Given the description of an element on the screen output the (x, y) to click on. 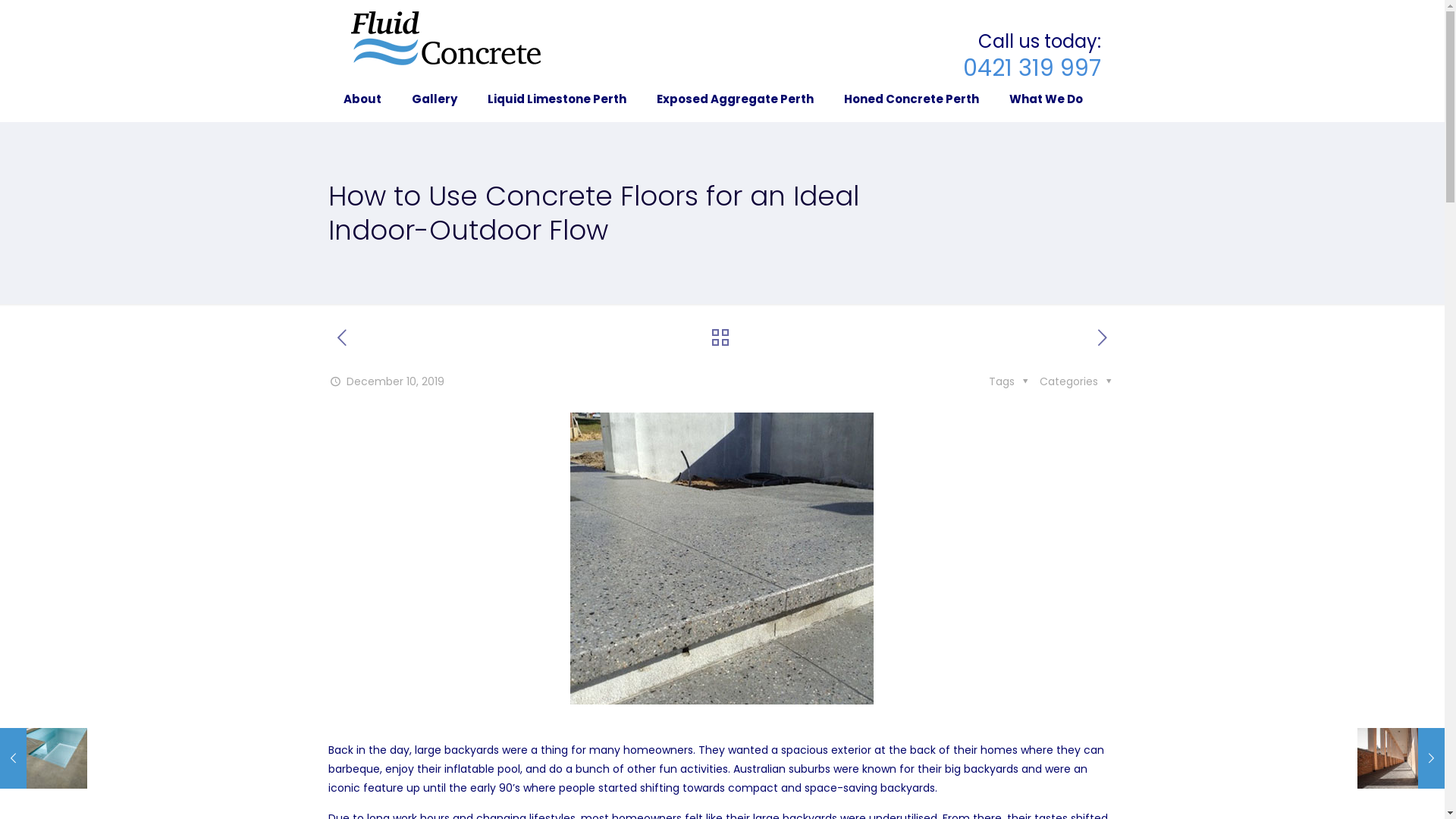
Exposed Aggregate Perth Element type: text (734, 99)
About Element type: text (362, 99)
Honed Concrete Perth Element type: text (911, 99)
What We Do Element type: text (1046, 99)
Liquid Limestone Perth Element type: text (556, 99)
Gallery Element type: text (434, 99)
Fluid Concrete Element type: hover (445, 38)
